Given the description of an element on the screen output the (x, y) to click on. 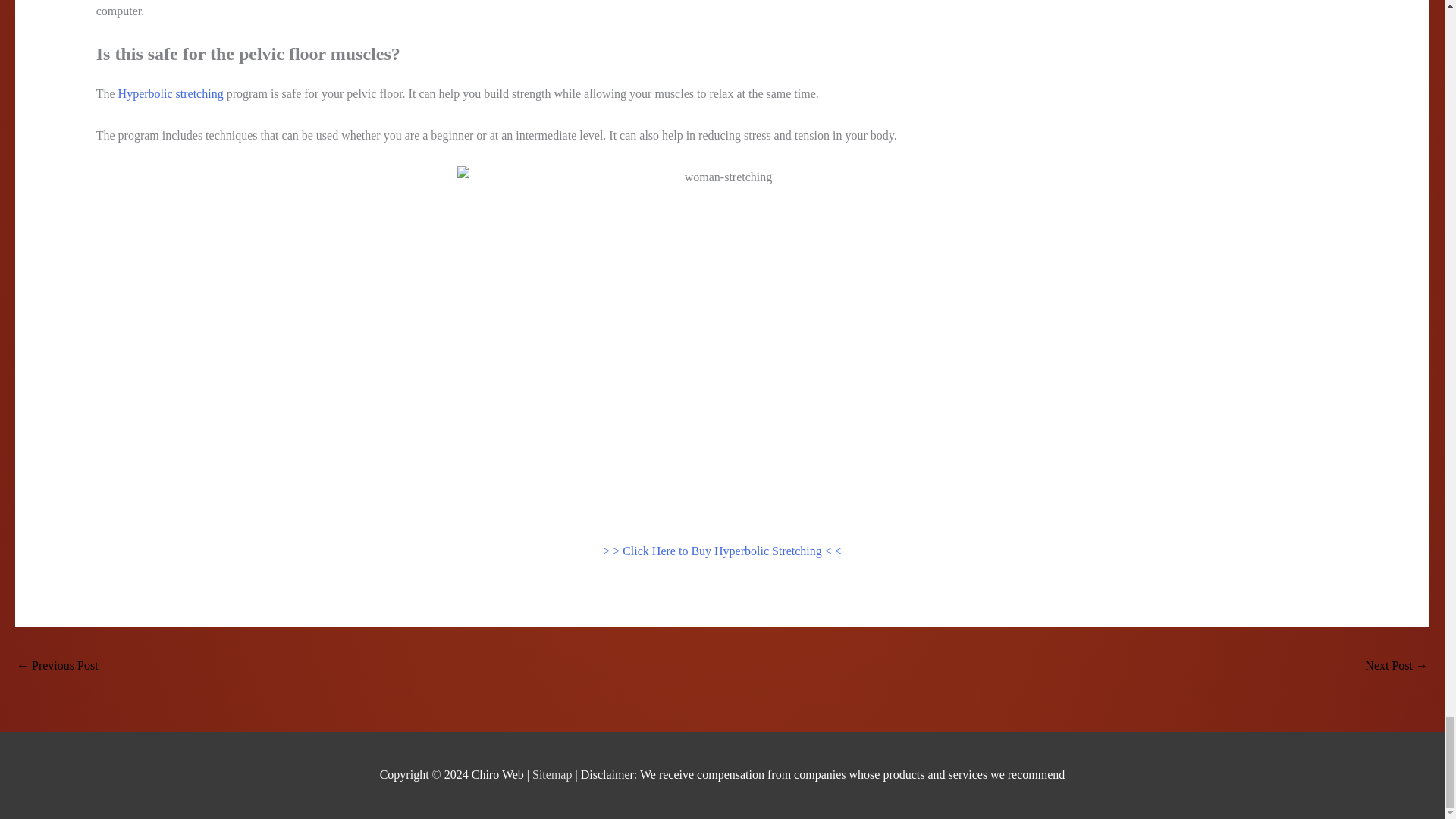
Alex Larsson Hyperbolic Stretching (1396, 666)
Sitemap (553, 774)
Hyperbolic stretching (170, 92)
Hyperbolic Stretching Negative Reviews (57, 666)
